Given the description of an element on the screen output the (x, y) to click on. 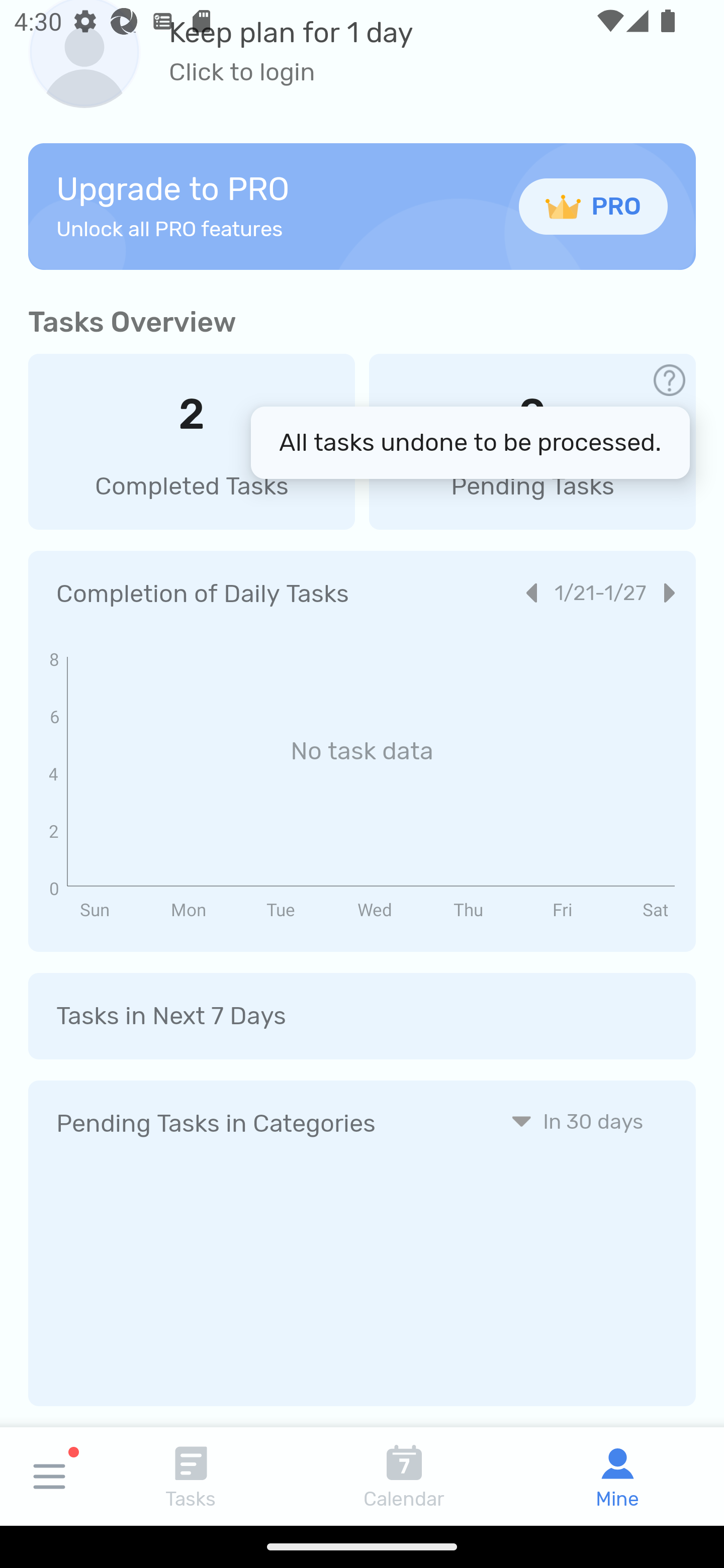
All tasks undone to be processed. (470, 442)
